Given the description of an element on the screen output the (x, y) to click on. 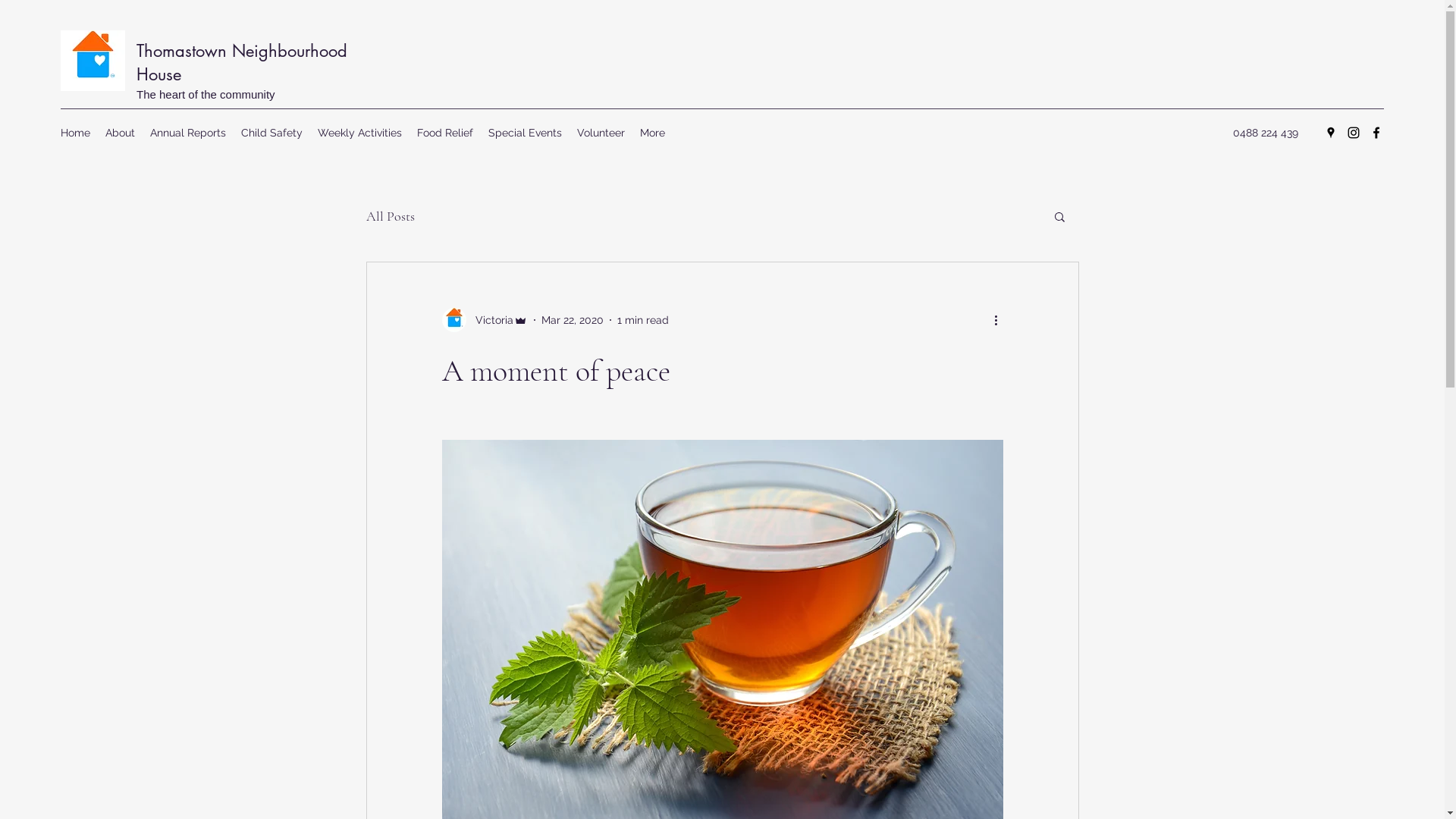
Thomastown Neighbourhood House Element type: text (241, 62)
Weekly Activities Element type: text (359, 132)
Home Element type: text (75, 132)
Volunteer Element type: text (600, 132)
Special Events Element type: text (524, 132)
Child Safety Element type: text (271, 132)
About Element type: text (119, 132)
Annual Reports Element type: text (187, 132)
Food Relief Element type: text (444, 132)
All Posts Element type: text (389, 215)
